Given the description of an element on the screen output the (x, y) to click on. 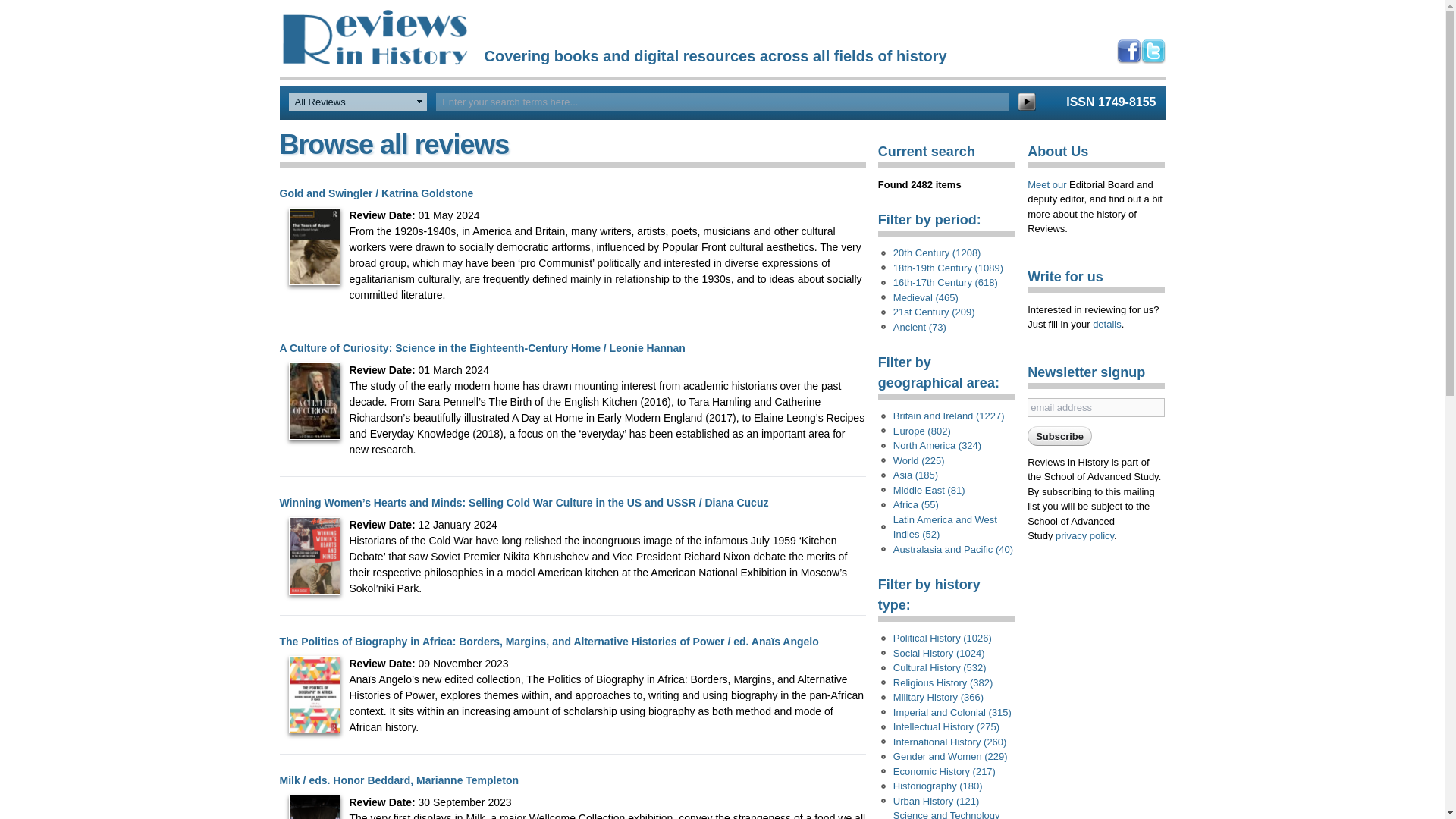
Subscribe (1059, 435)
